Given the description of an element on the screen output the (x, y) to click on. 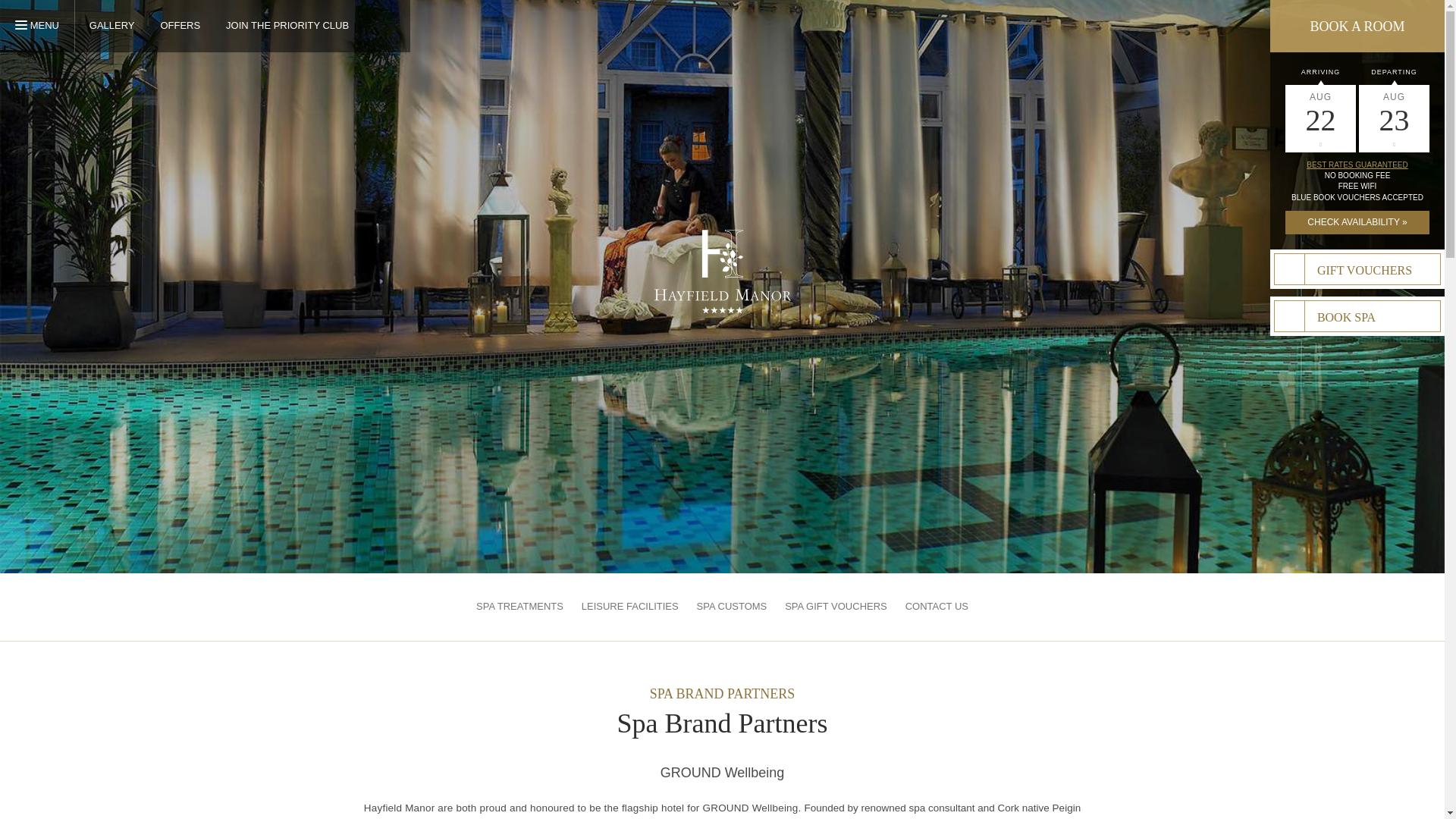
GALLERY (44, 26)
JOIN THE PRIORITY CLUB (112, 25)
Book Spa (286, 25)
BEST RATES GUARANTEED (1289, 316)
GIFT VOUCHERS (1356, 164)
Book Spa BOOK SPA (379, 23)
OFFERS (1357, 316)
Gift Vouchers (179, 25)
Gift Vouchers GIFT VOUCHERS (1289, 268)
